Given the description of an element on the screen output the (x, y) to click on. 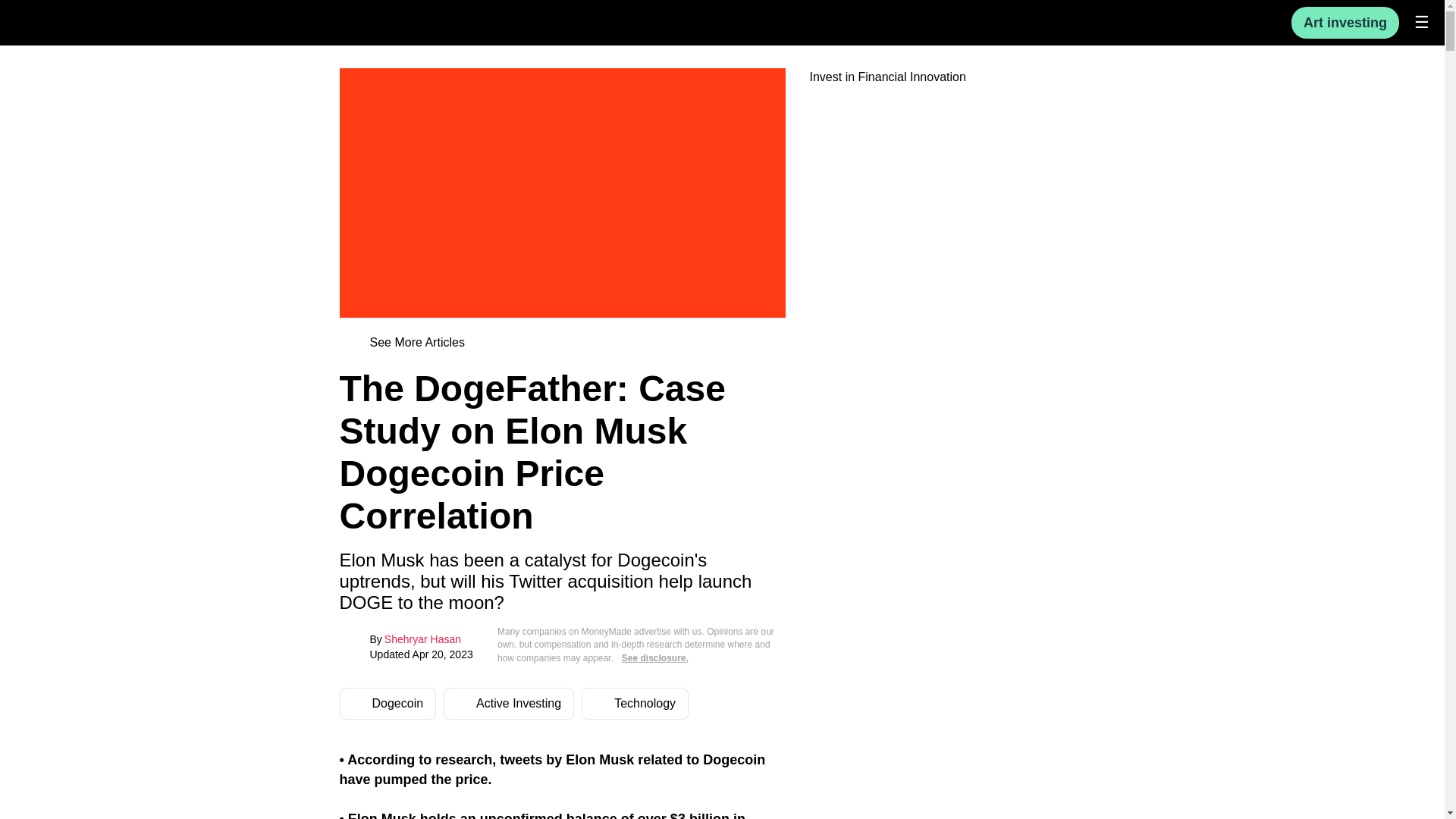
Art investing (1345, 22)
See disclosure. (655, 658)
See More Articles (404, 342)
See disclosure. (654, 657)
Shehryar Hasan (422, 639)
See More Articles (416, 342)
Art investing (1345, 22)
